Given the description of an element on the screen output the (x, y) to click on. 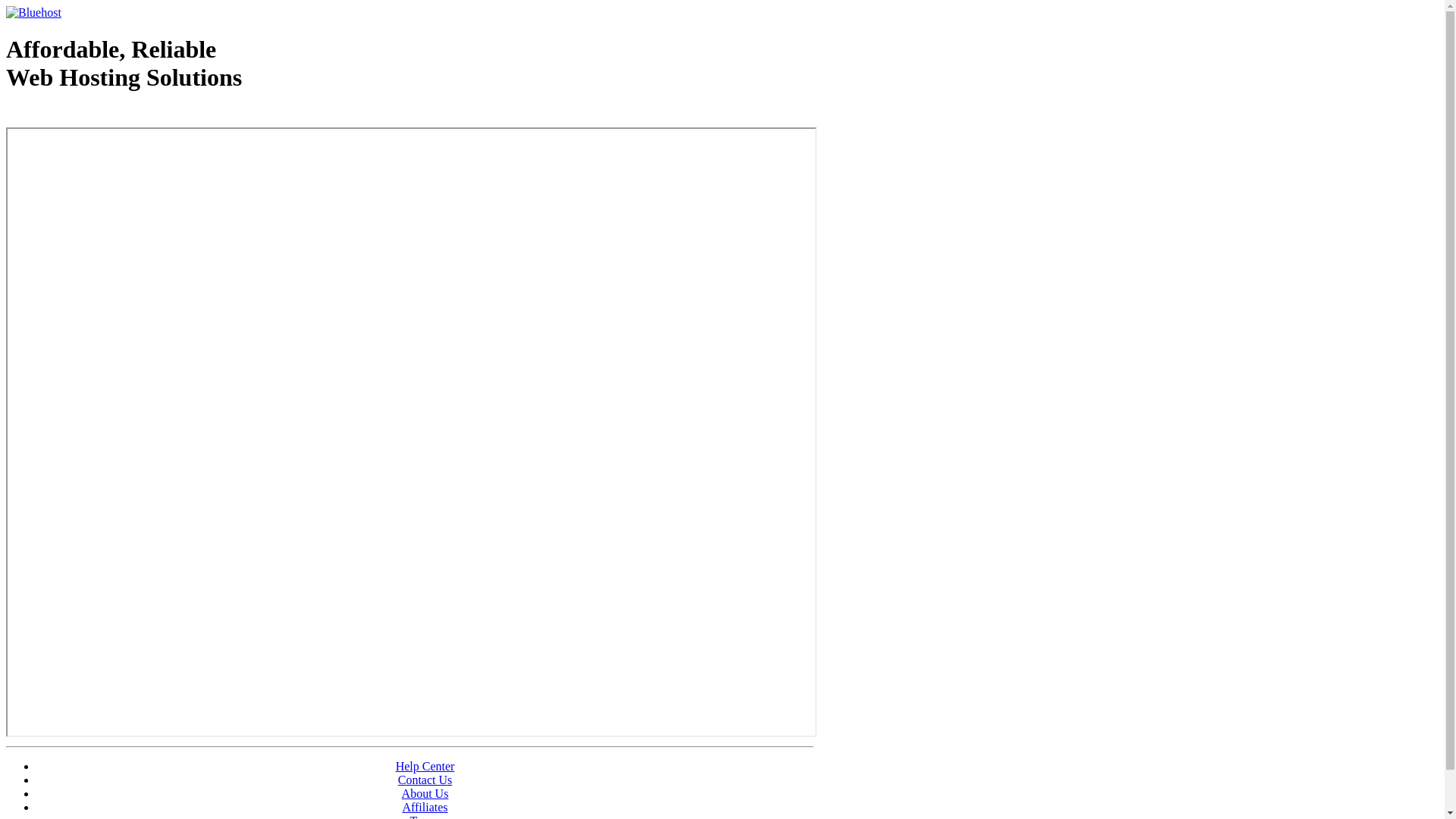
Help Center Element type: text (425, 765)
Affiliates Element type: text (424, 806)
Contact Us Element type: text (425, 779)
Web Hosting - courtesy of www.bluehost.com Element type: text (94, 115)
About Us Element type: text (424, 793)
